Given the description of an element on the screen output the (x, y) to click on. 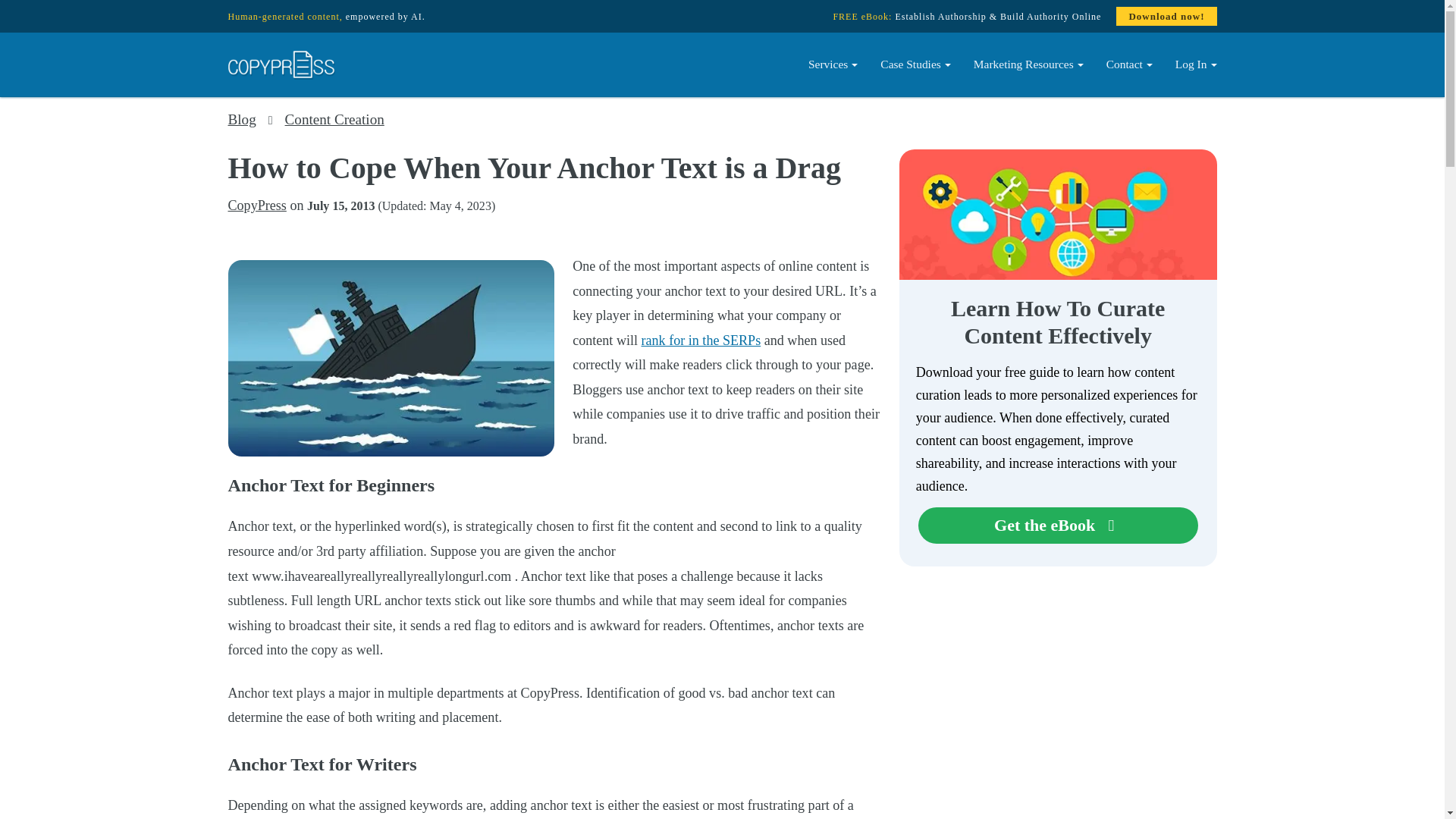
Download now! (1165, 16)
CopyPress (256, 205)
Get the eBook (1058, 524)
Contact (1128, 64)
Case Studies (915, 64)
rank for in the SERPs (701, 340)
Marketing Resources (1028, 64)
Services (832, 64)
Get the eBook (1058, 524)
Content Creation (334, 119)
Blog (241, 119)
